Given the description of an element on the screen output the (x, y) to click on. 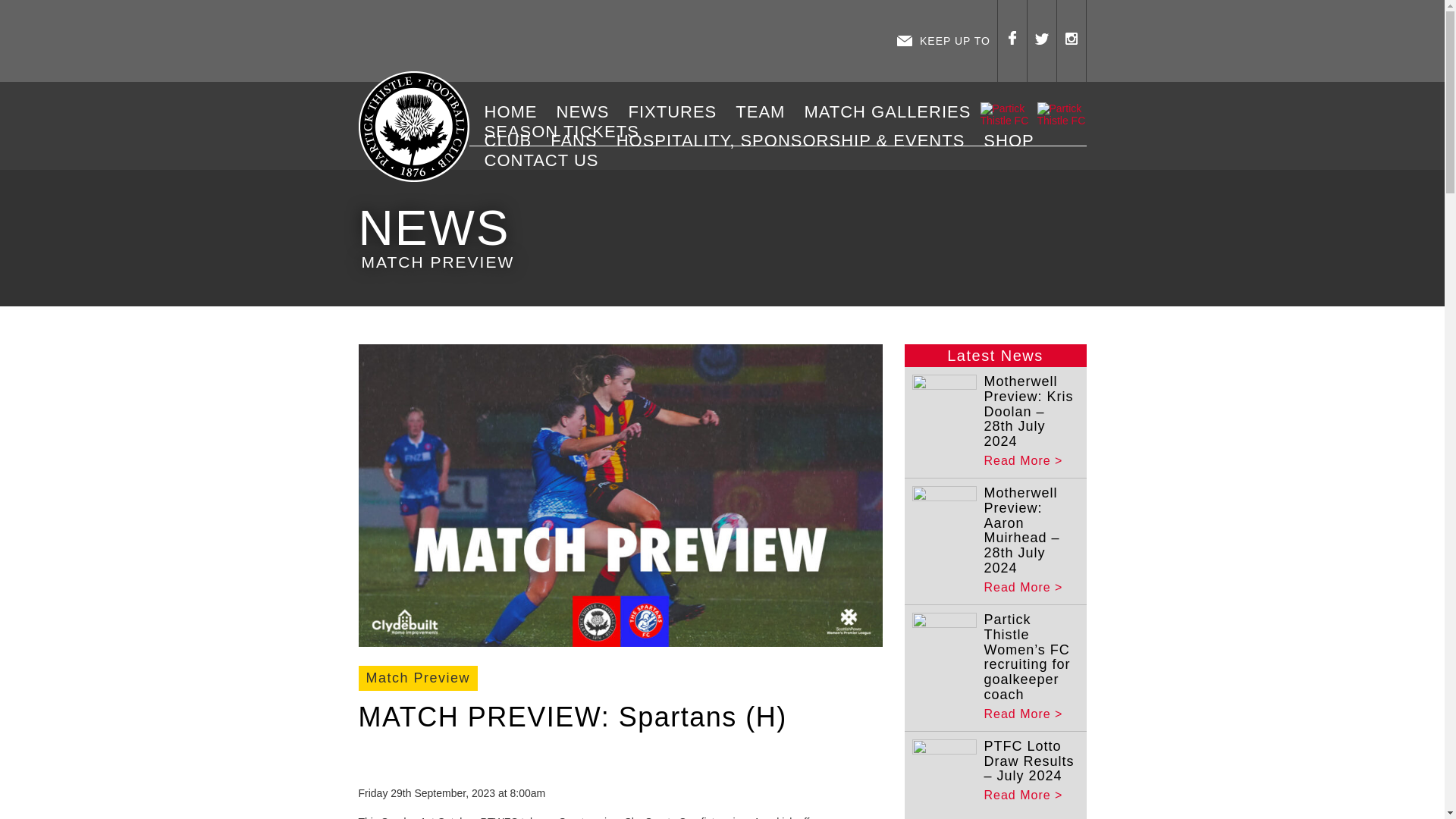
Enter the JAGZONE (623, 40)
CONTACT US (547, 160)
HOME (516, 112)
KEEP UP TO DATE (943, 40)
FIXTURES (678, 112)
CLUB (513, 140)
NEWS (587, 112)
SHOP (1013, 140)
TEAM (765, 112)
SEASON TICKETS (566, 131)
FANS (579, 140)
MATCH GALLERIES (892, 112)
